Given the description of an element on the screen output the (x, y) to click on. 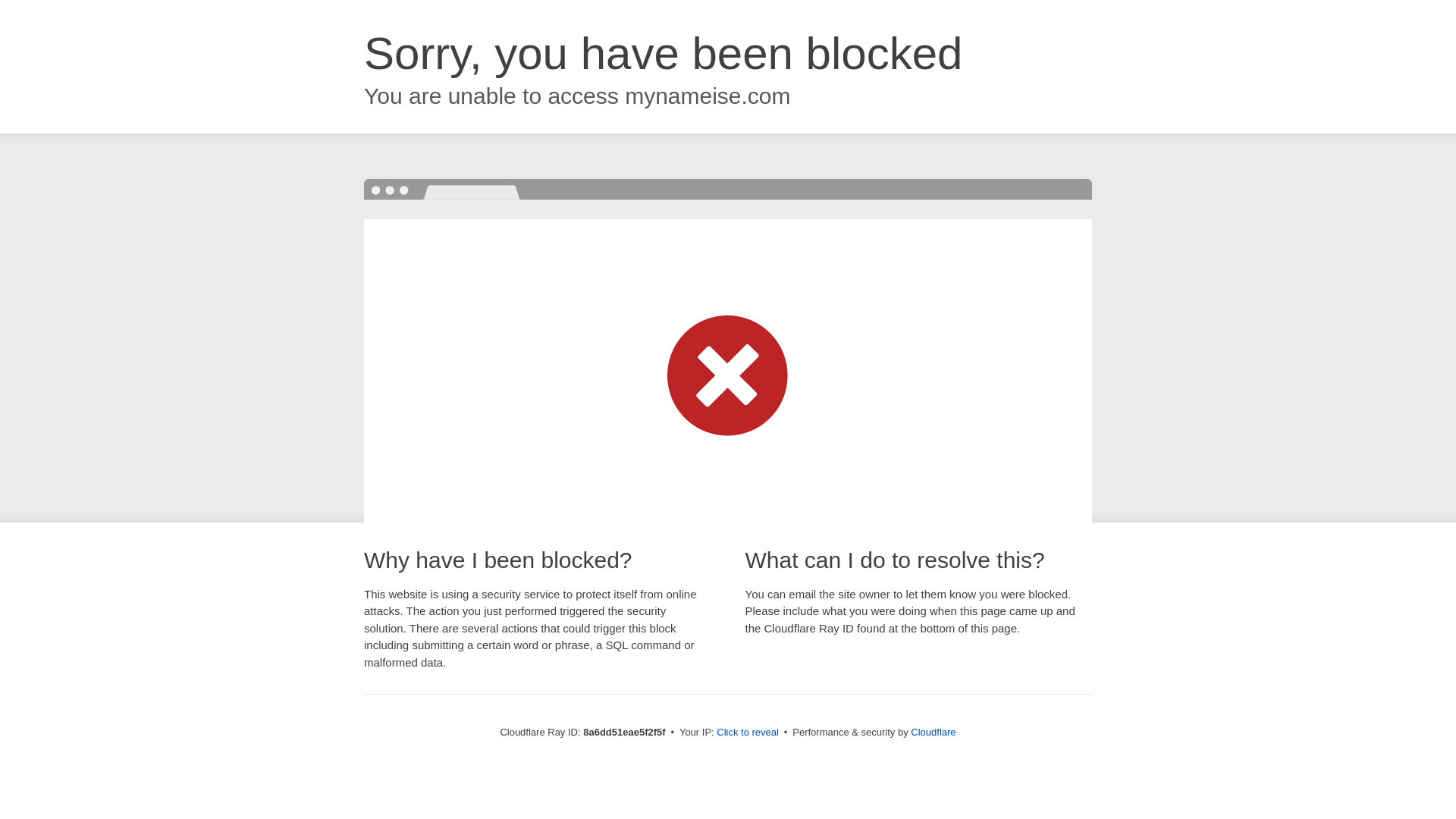
Cloudflare (933, 731)
Click to reveal (747, 732)
